Given the description of an element on the screen output the (x, y) to click on. 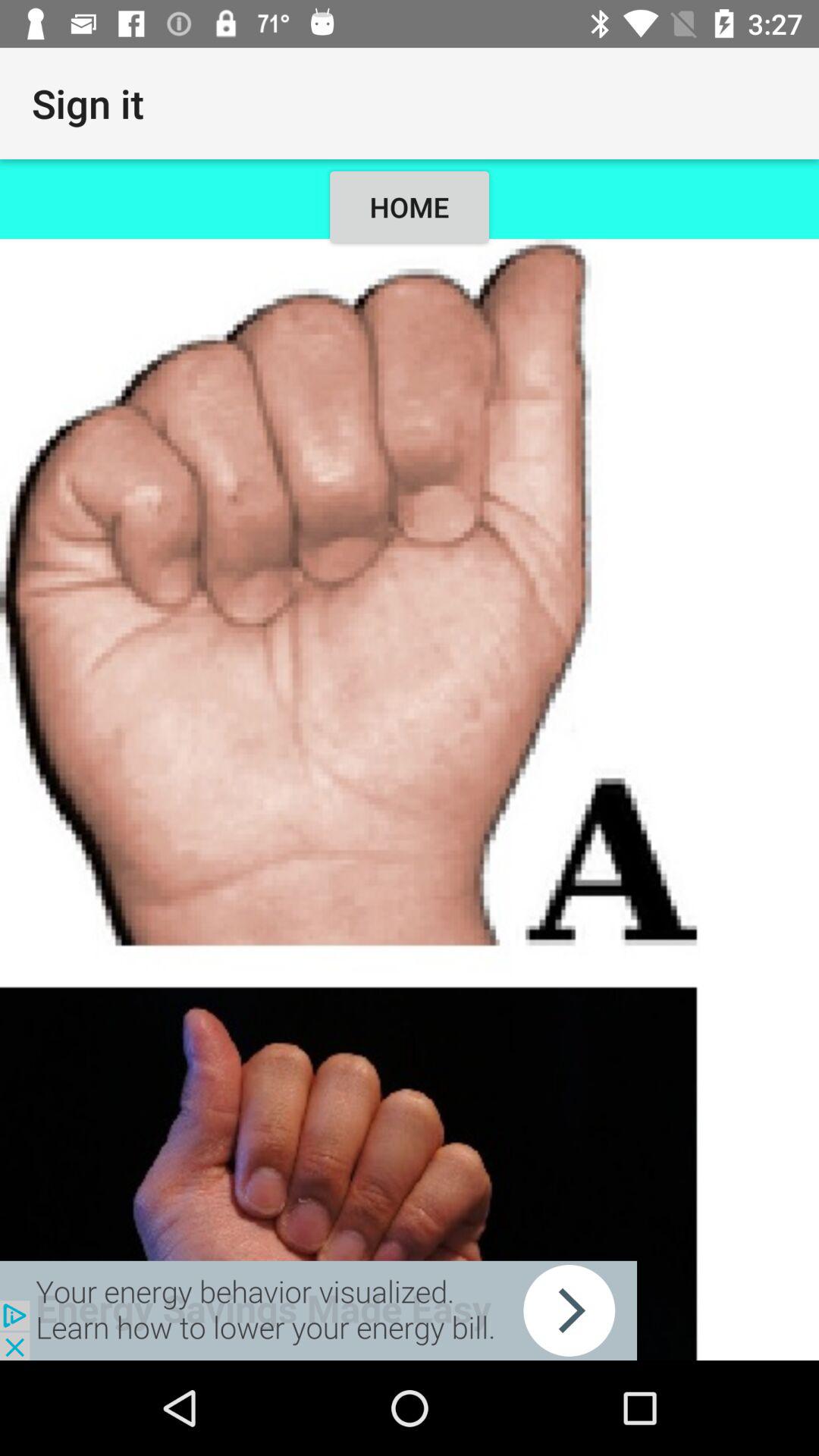
go to next (318, 1310)
